Given the description of an element on the screen output the (x, y) to click on. 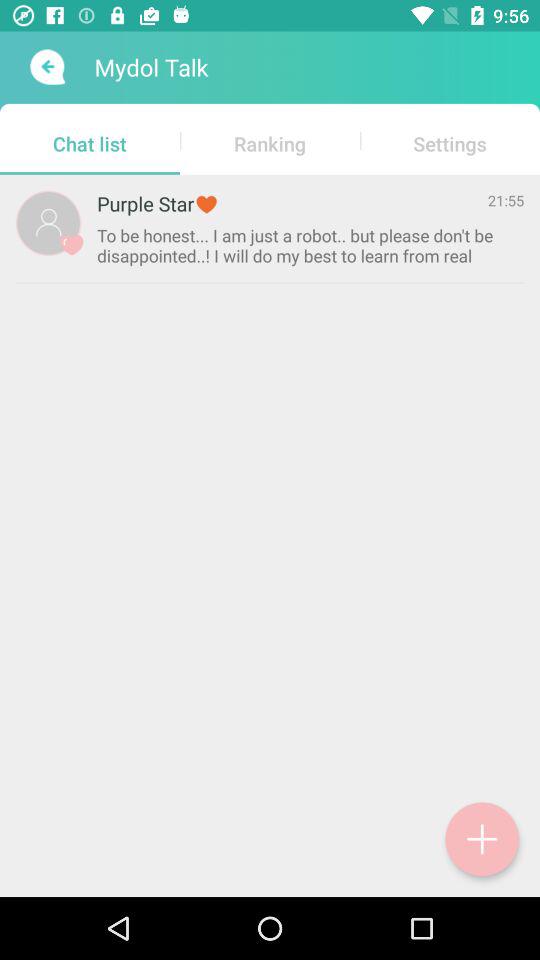
turn off the icon at the bottom right corner (482, 839)
